Given the description of an element on the screen output the (x, y) to click on. 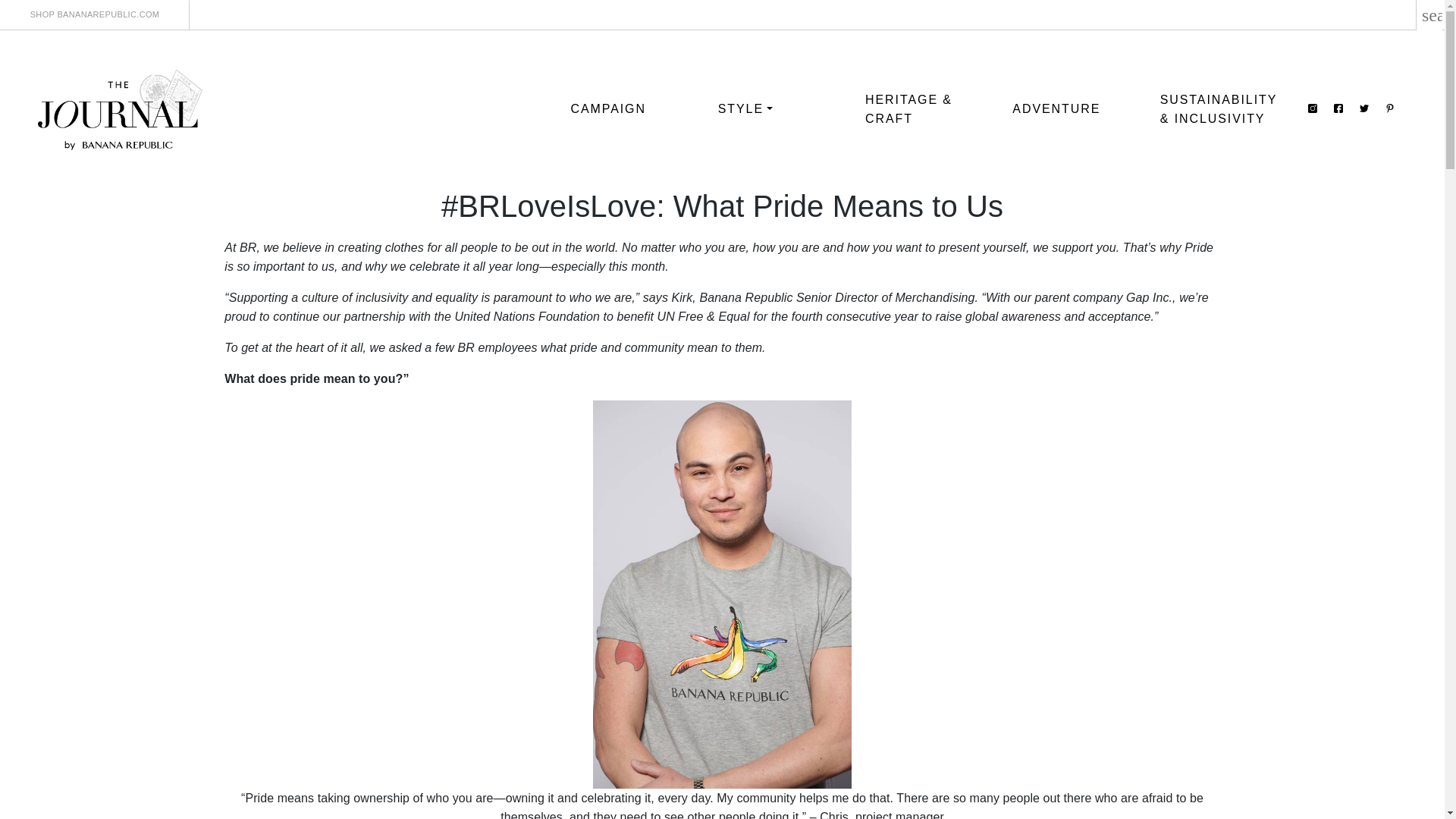
CAMPAIGN (608, 108)
STYLE (745, 108)
STYLE (745, 108)
ADVENTURE (1055, 108)
CAMPAIGN (608, 108)
SHOP BANANAREPUBLIC.COM (94, 15)
ADVENTURE (1055, 108)
